Given the description of an element on the screen output the (x, y) to click on. 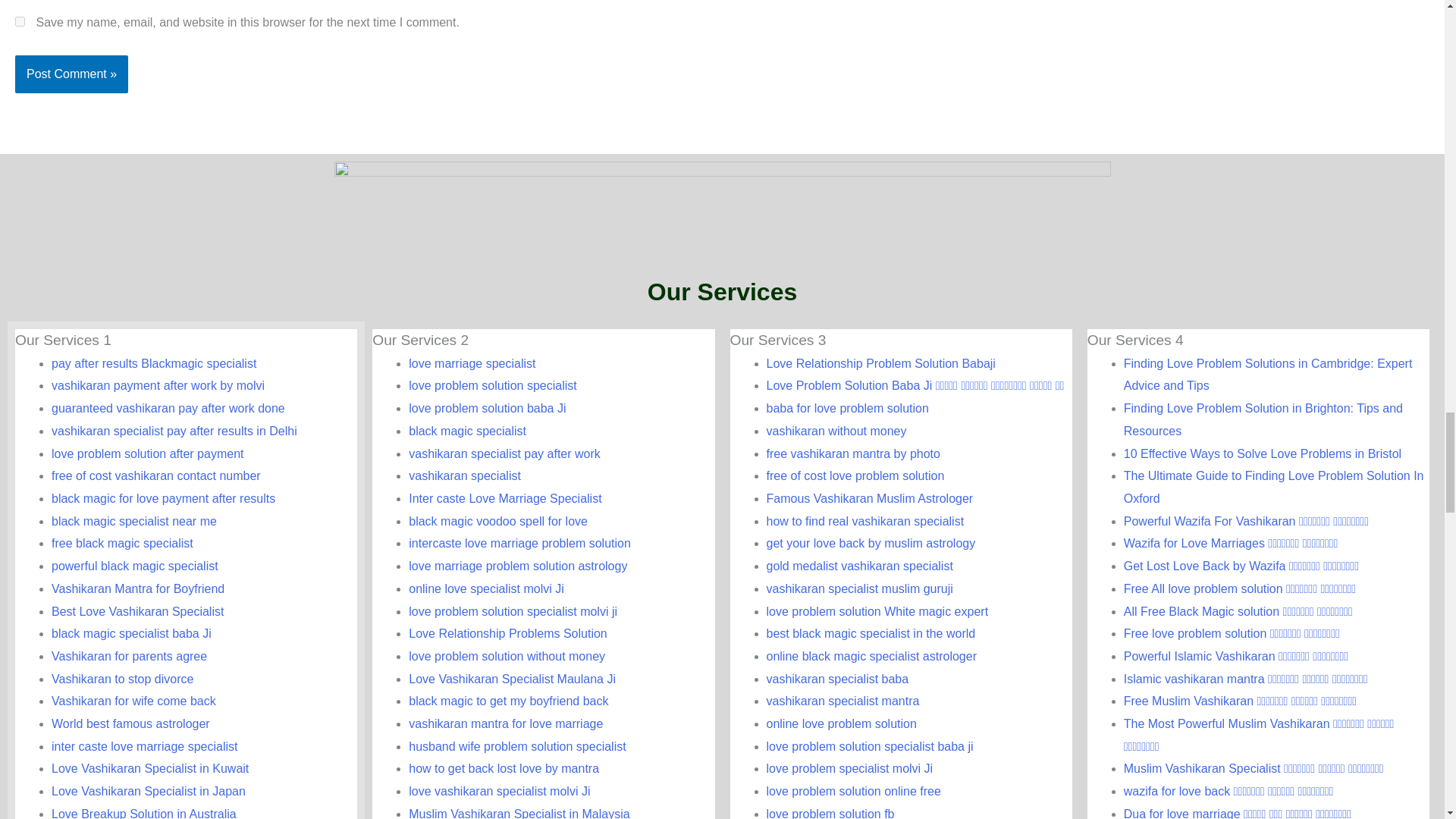
yes (19, 21)
vashikaran specialist pay after results in Delhi (173, 431)
guaranteed vashikaran pay after work done (167, 408)
black magic specialist near me (133, 521)
black magic for love payment after results (162, 498)
vashikaran payment after work by molvi (157, 385)
pay after results Blackmagic specialist (153, 363)
free of cost vashikaran contact number (155, 475)
love problem solution after payment (146, 453)
